Given the description of an element on the screen output the (x, y) to click on. 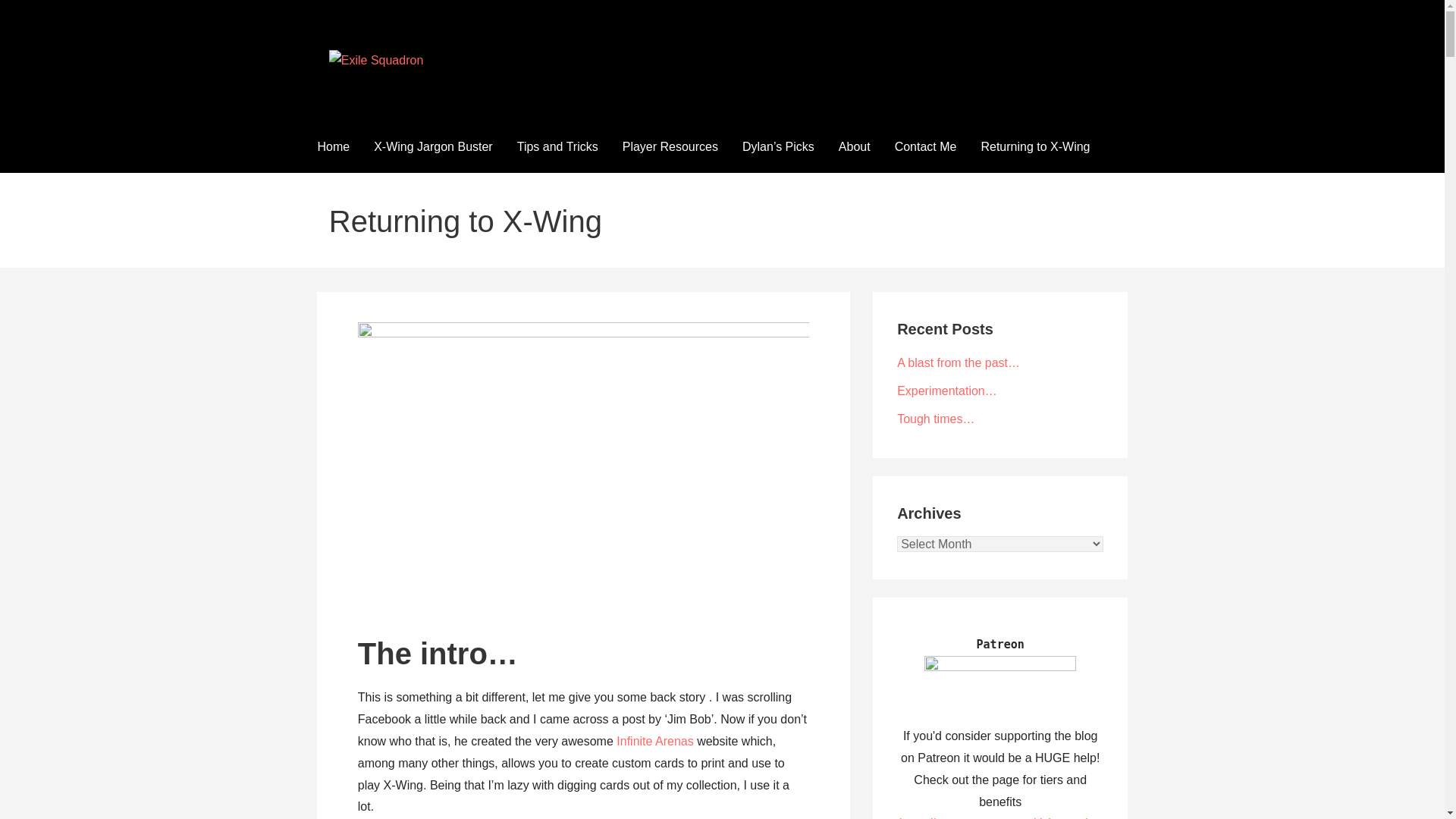
Player Resources (670, 147)
Infinite Arenas (654, 740)
X-Wing Jargon Buster (433, 147)
Returning to X-Wing (1035, 147)
Search (31, 15)
Exile Squadron (412, 90)
About (854, 147)
Home (332, 147)
Contact Me (925, 147)
Tips and Tricks (557, 147)
